Given the description of an element on the screen output the (x, y) to click on. 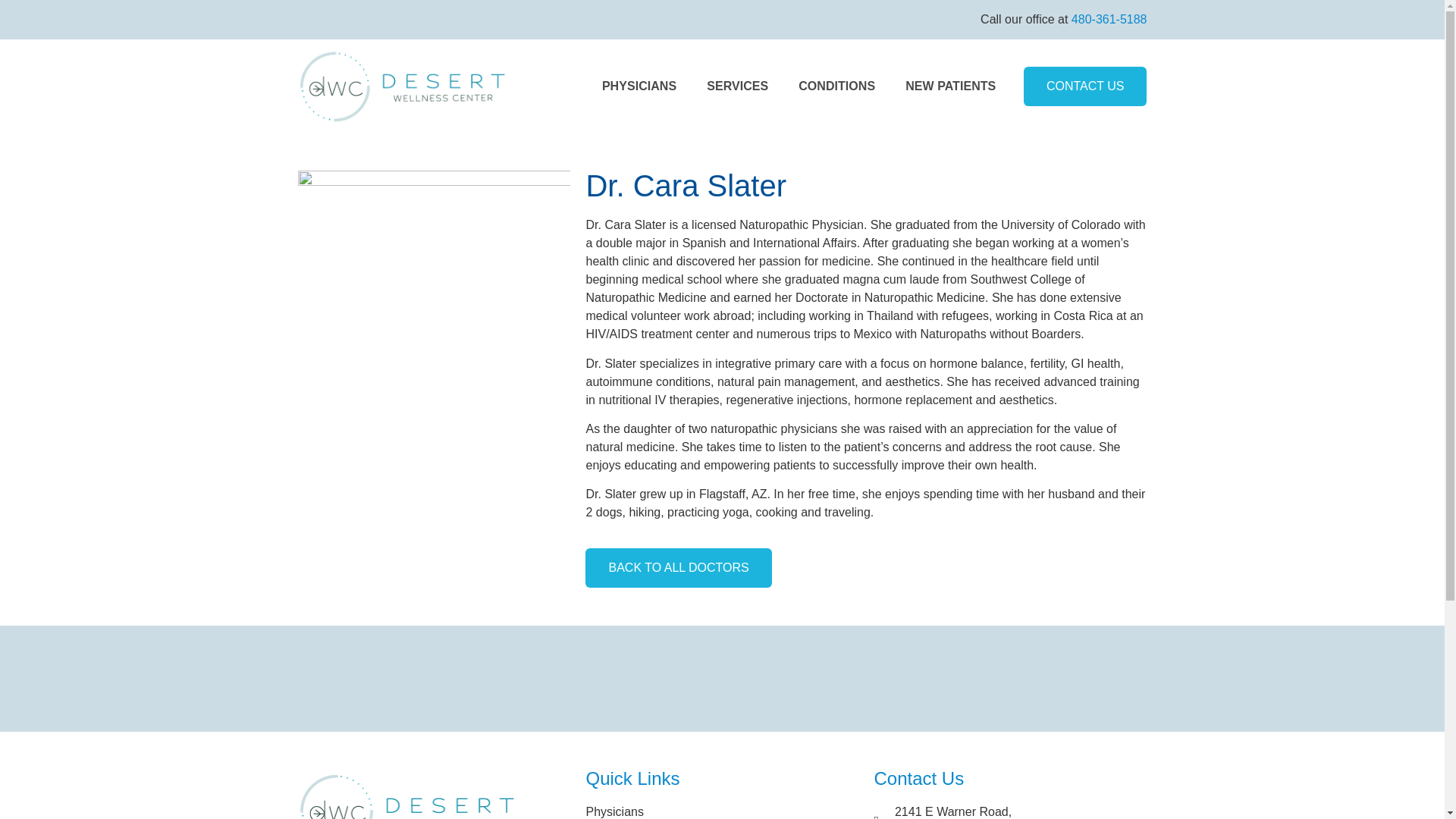
BACK TO ALL DOCTORS (678, 567)
PHYSICIANS (638, 86)
Physicians (722, 811)
CONDITIONS (836, 86)
480-361-5188 (1109, 19)
SERVICES (737, 86)
NEW PATIENTS (1010, 811)
CONTACT US (949, 86)
